Given the description of an element on the screen output the (x, y) to click on. 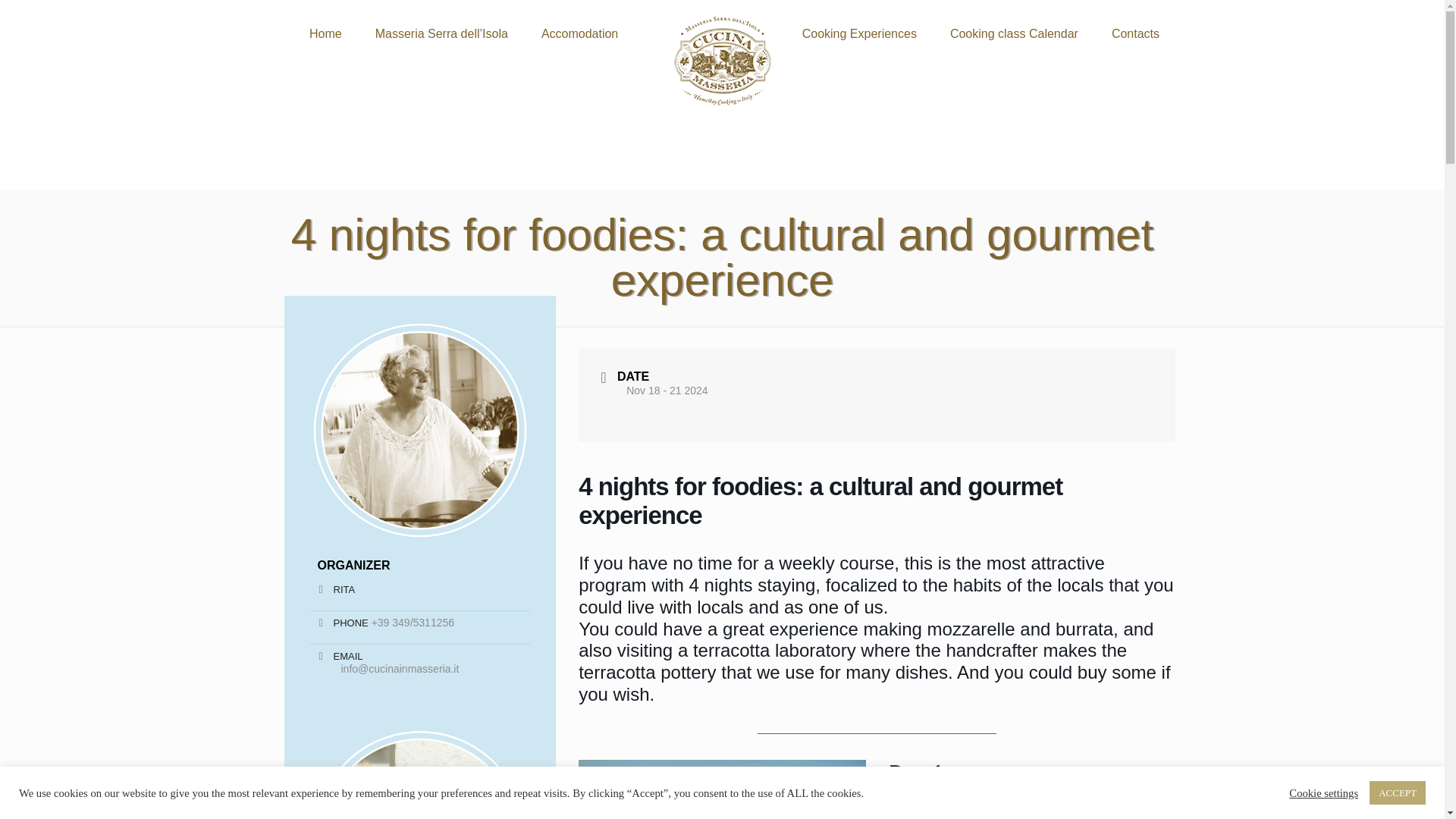
Cooking Experiences (859, 33)
Contacts (1135, 33)
Home (325, 33)
Cucina in Masseria (721, 60)
Cooking class Calendar (1013, 33)
Accomodation (579, 33)
barchetta-sul-molo (722, 789)
